Given the description of an element on the screen output the (x, y) to click on. 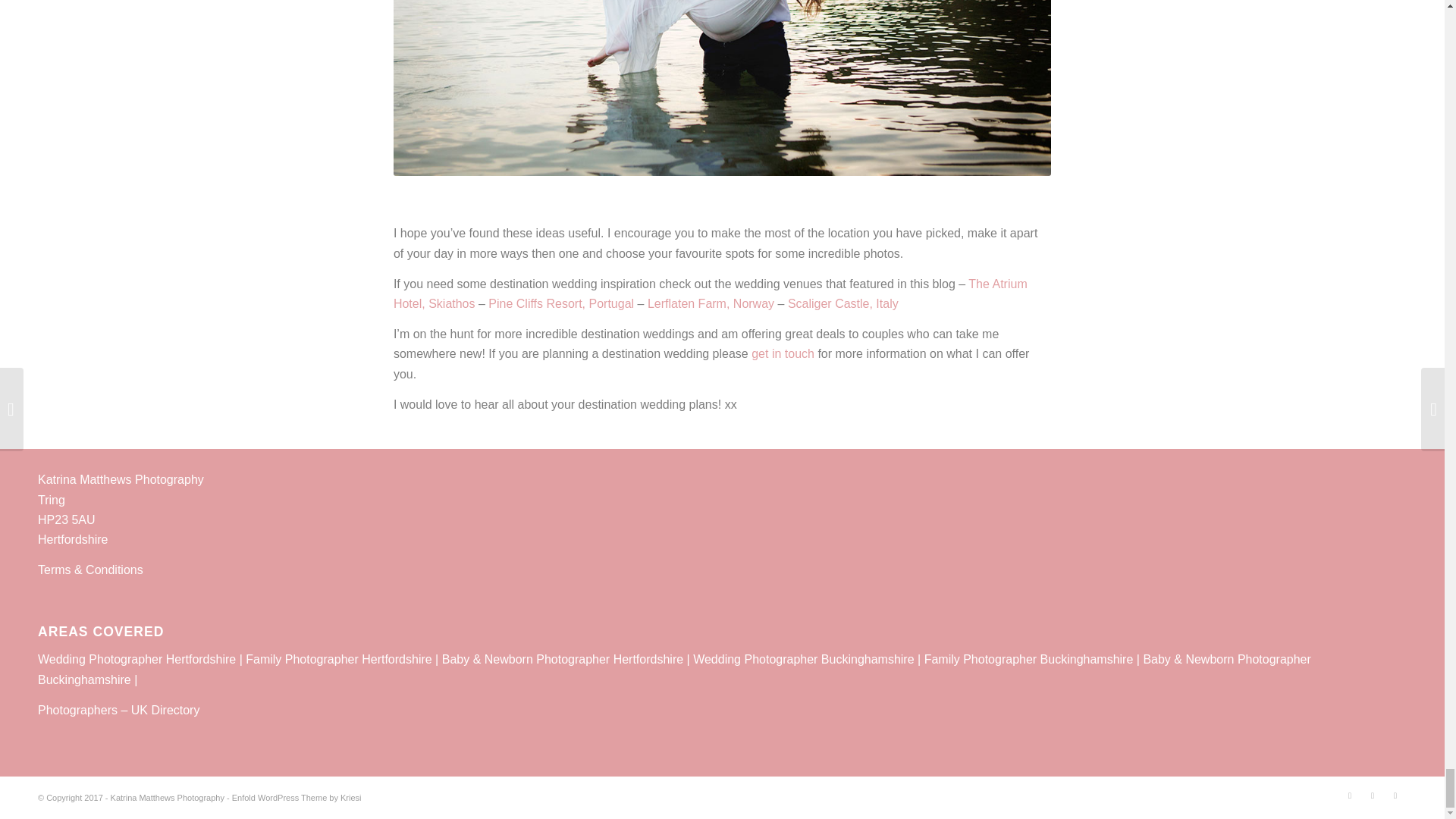
The Atrium Hotel, Skiathos (710, 293)
UK Directory (165, 709)
Pine Cliffs Resort, Portugal (560, 303)
Lerflaten Farm, Norway (710, 303)
Scaliger Castle, Italy (842, 303)
Enfold WordPress Theme by Kriesi (296, 797)
Photographers (77, 709)
get in touch (782, 353)
